Given the description of an element on the screen output the (x, y) to click on. 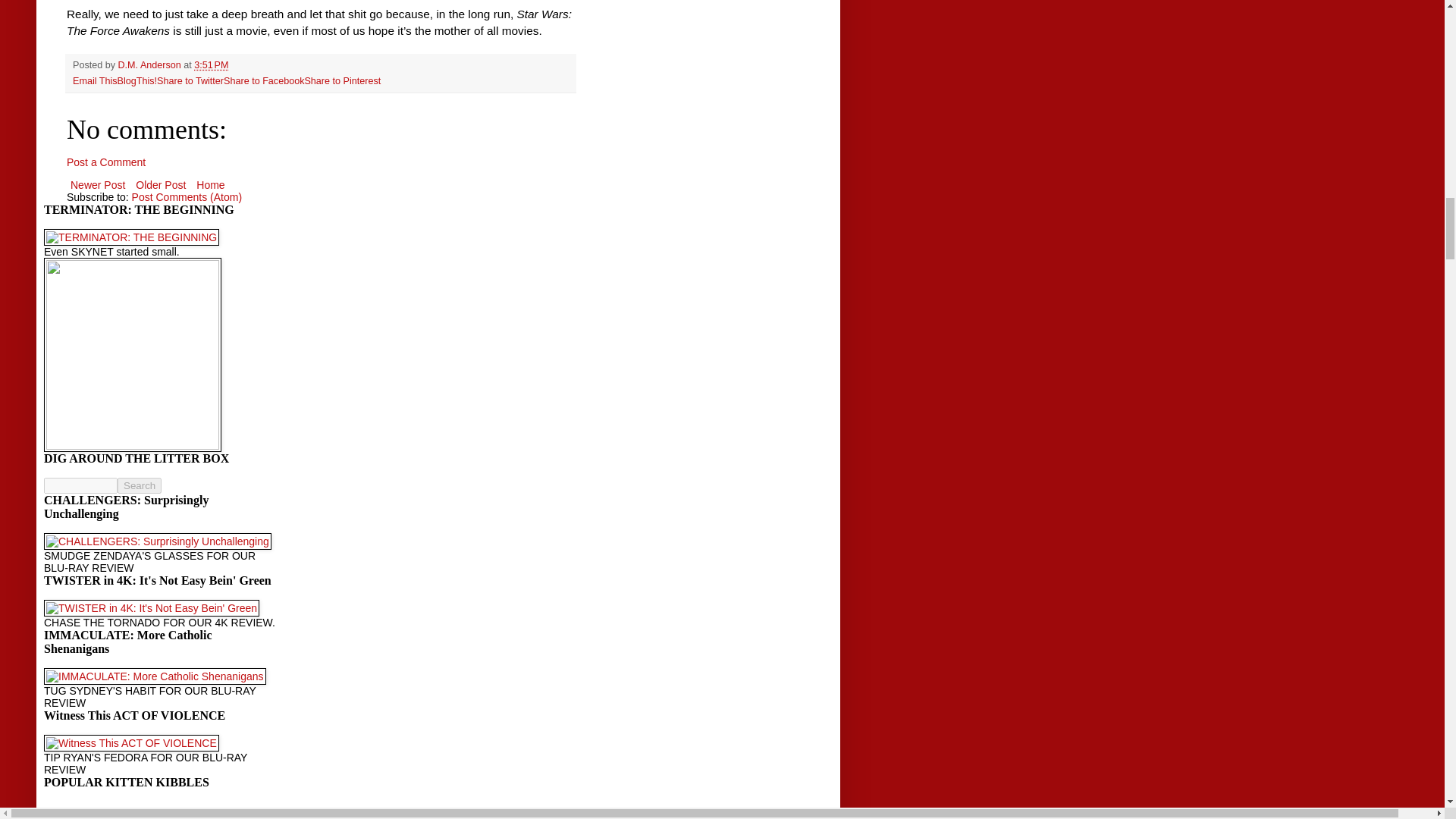
BlogThis! (137, 81)
Newer Post (97, 184)
ZERO CONTACT: Anthony Hopkins Phones It In...Literally (157, 816)
Post a Comment (105, 162)
Search (139, 485)
Share to Twitter (190, 81)
Older Post (160, 184)
Share to Twitter (190, 81)
Email This (94, 81)
Search (139, 485)
Search (139, 485)
BlogThis! (137, 81)
Share to Facebook (264, 81)
Email This (94, 81)
